Given the description of an element on the screen output the (x, y) to click on. 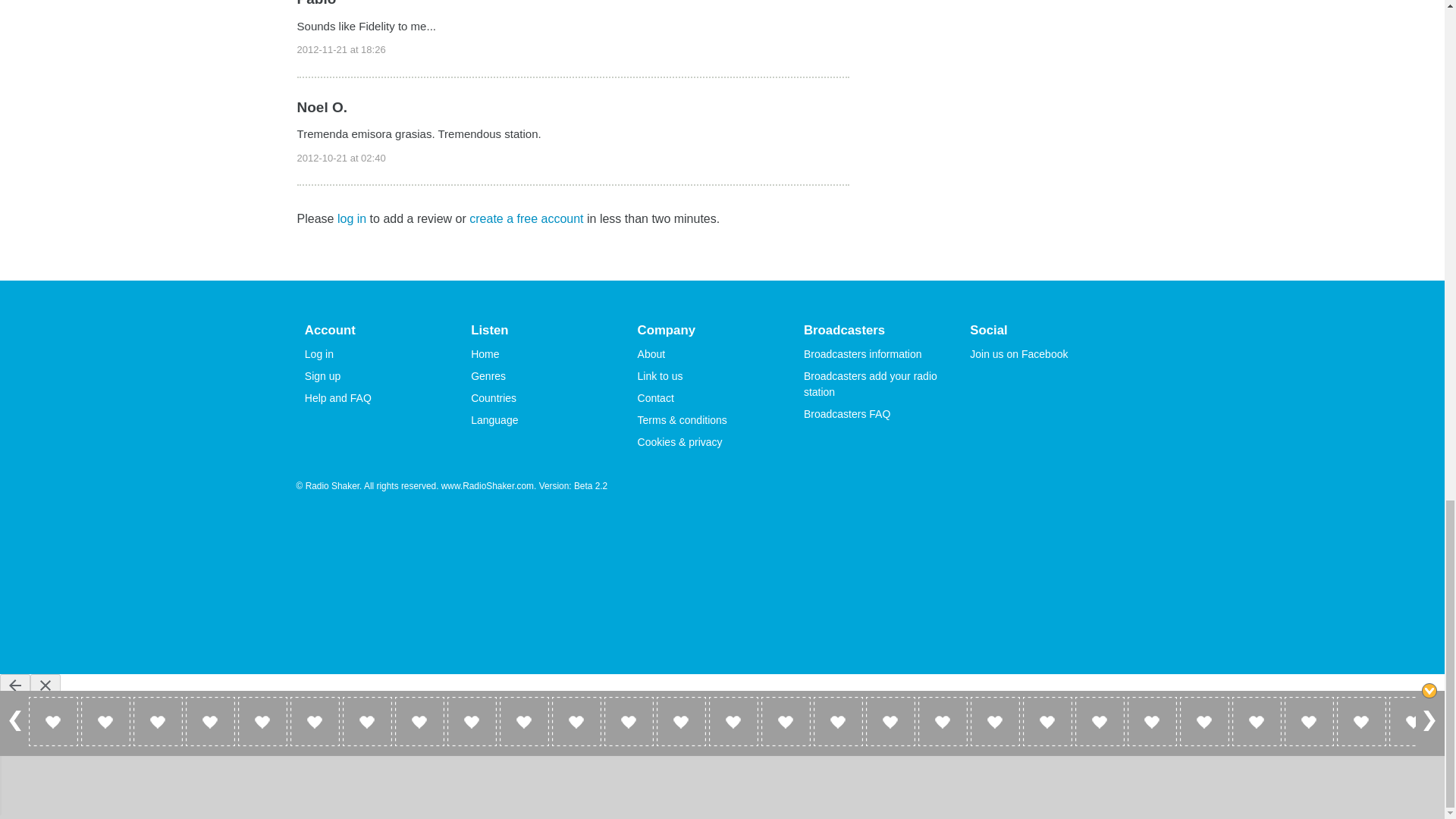
Broadcasters information (862, 354)
Language (494, 419)
Link to us (659, 376)
Broadcasters add your radio station (870, 384)
Contact (655, 398)
Log in (318, 354)
Help and FAQ (337, 398)
log in (351, 218)
Home (484, 354)
About (651, 354)
create a free account (525, 218)
Countries (493, 398)
Sign up (322, 376)
Genres (487, 376)
